Given the description of an element on the screen output the (x, y) to click on. 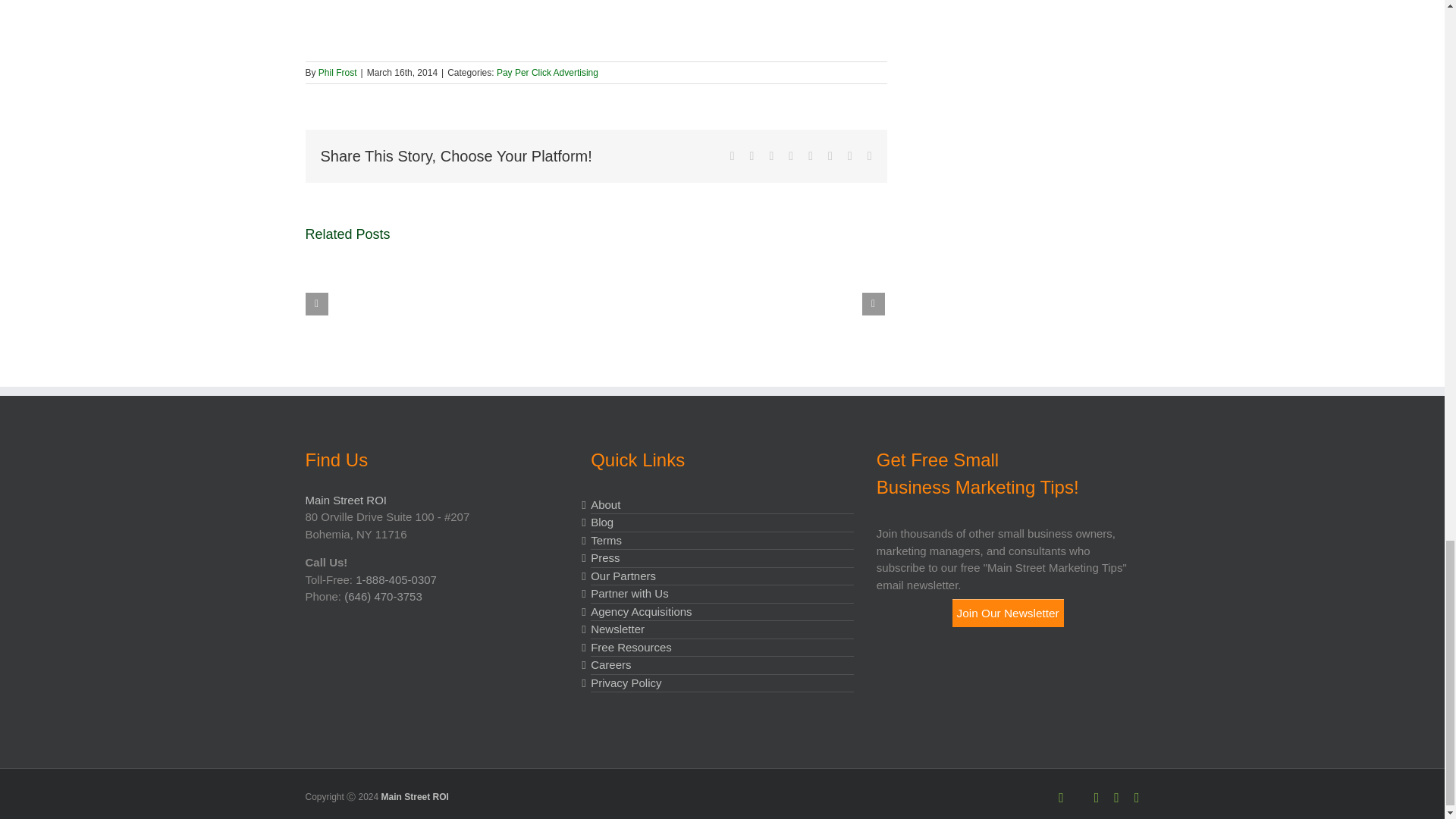
Posts by Phil Frost (337, 72)
